Given the description of an element on the screen output the (x, y) to click on. 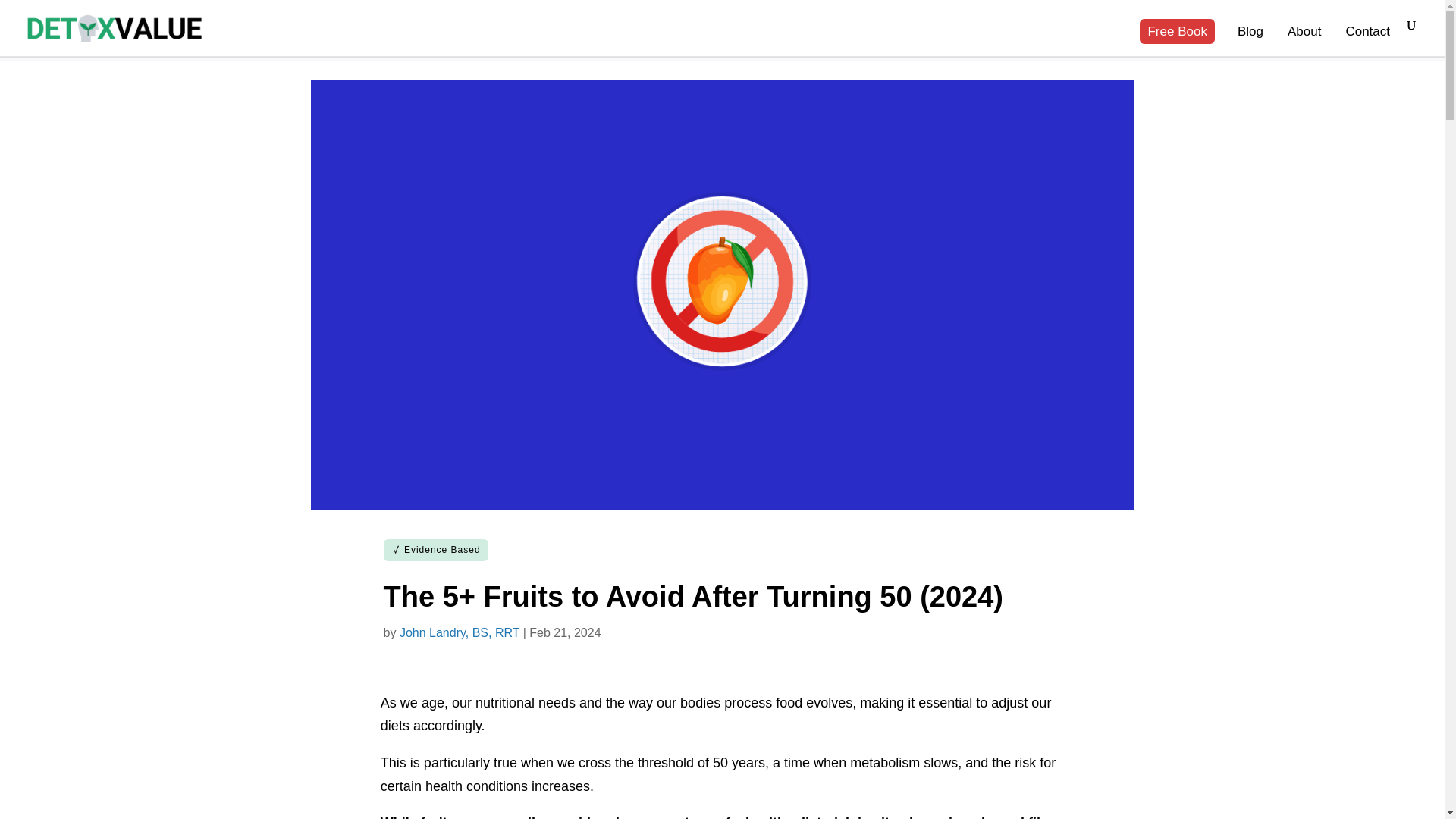
Contact (1367, 41)
About (1303, 41)
Posts by John Landry, BS, RRT (458, 632)
John Landry, BS, RRT (458, 632)
Free Book (1177, 41)
